Given the description of an element on the screen output the (x, y) to click on. 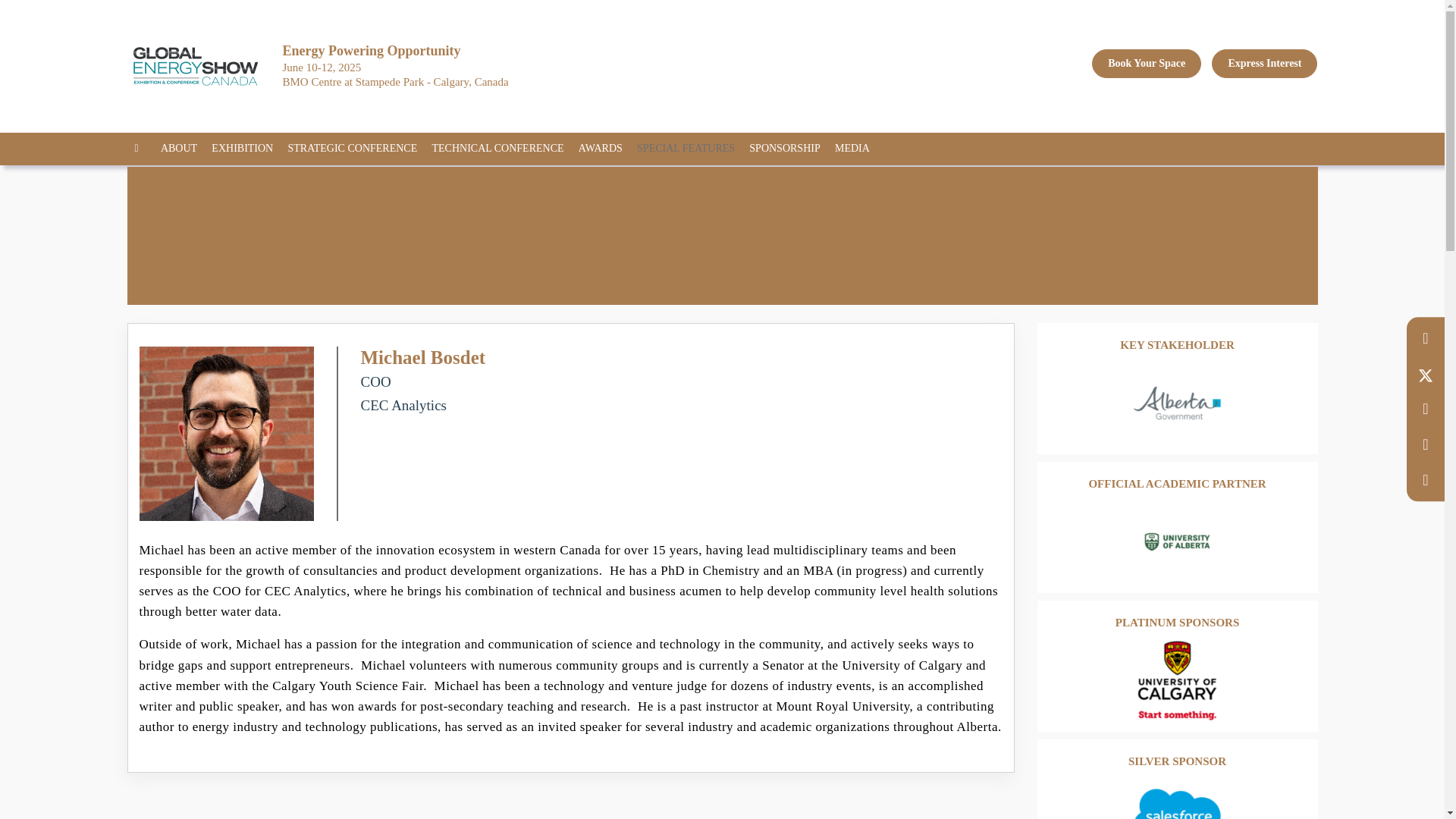
EXHIBITION (247, 148)
AWARDS (605, 148)
STRATEGIC CONFERENCE (357, 148)
Express Interest (1264, 63)
ABOUT (184, 148)
SPECIAL FEATURES (691, 148)
TECHNICAL CONFERENCE (502, 148)
Book Your Space (1146, 63)
